Given the description of an element on the screen output the (x, y) to click on. 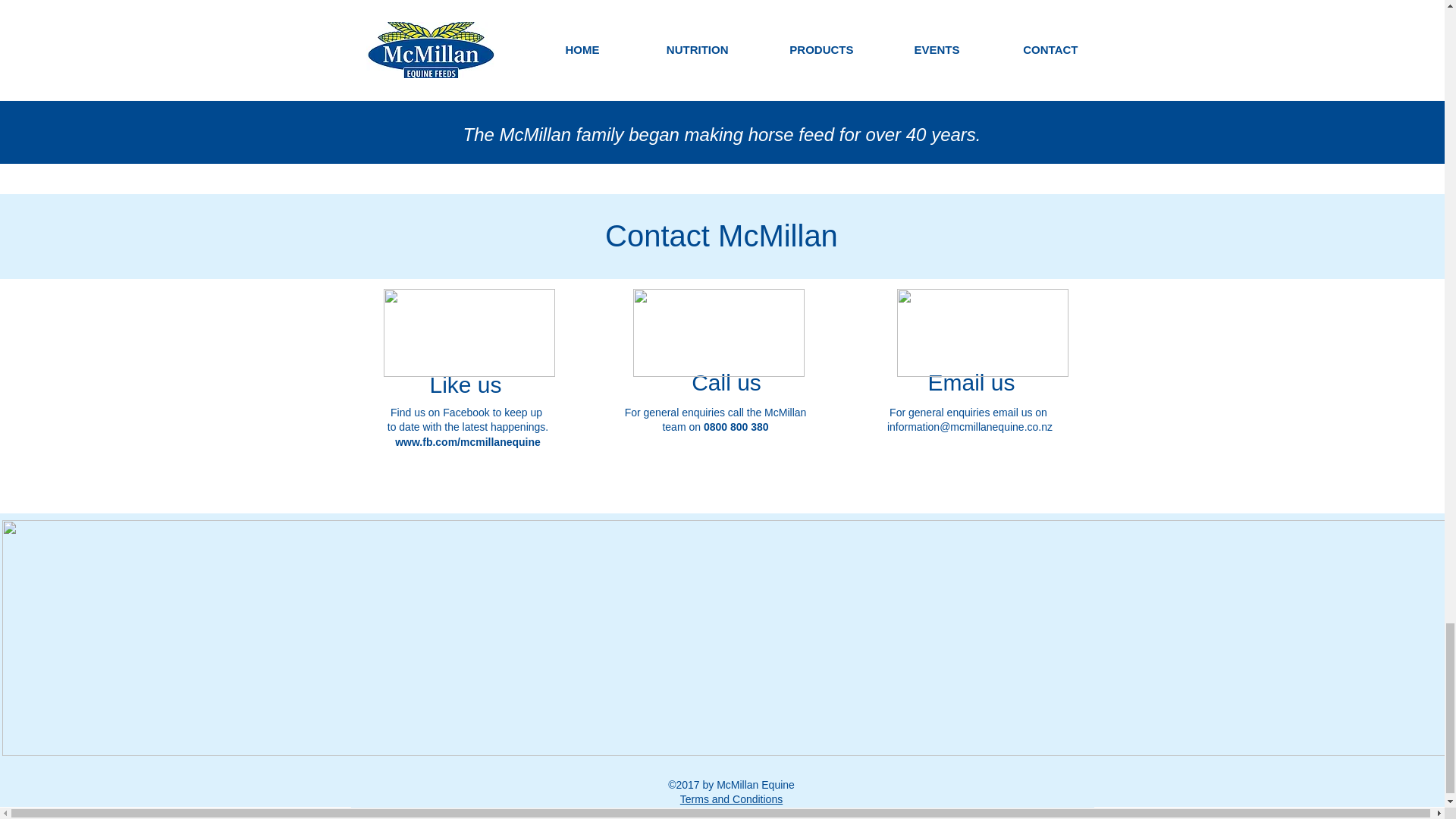
Like us (464, 384)
VIEW PRODUCTS (537, 32)
VIEW PRODUCTS (910, 33)
Terms and Conditions (731, 799)
